Given the description of an element on the screen output the (x, y) to click on. 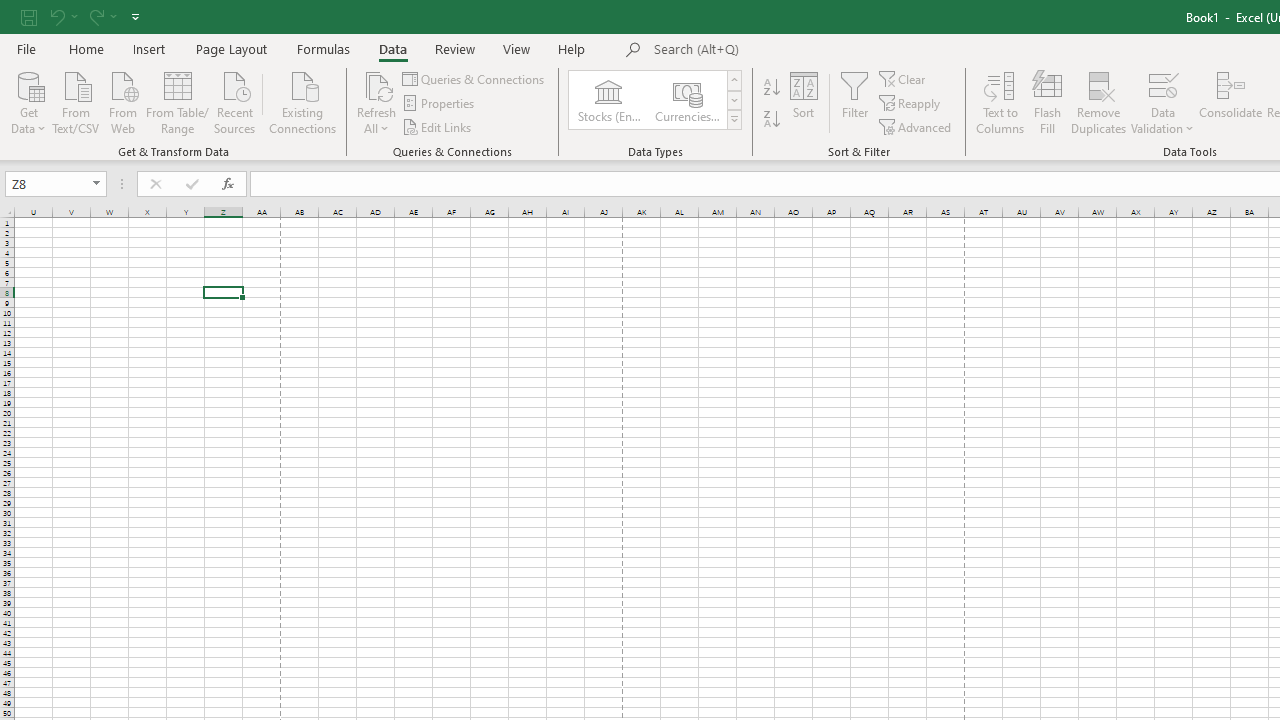
Existing Connections (303, 101)
Advanced... (916, 126)
Queries & Connections (474, 78)
Data Validation... (1162, 102)
AutomationID: ConvertToLinkedEntity (655, 99)
Open (96, 183)
Home (86, 48)
Consolidate... (1230, 102)
Get Data (28, 101)
Flash Fill (1047, 102)
System (10, 11)
Filter (854, 102)
Row up (734, 79)
From Table/Range (177, 101)
